Given the description of an element on the screen output the (x, y) to click on. 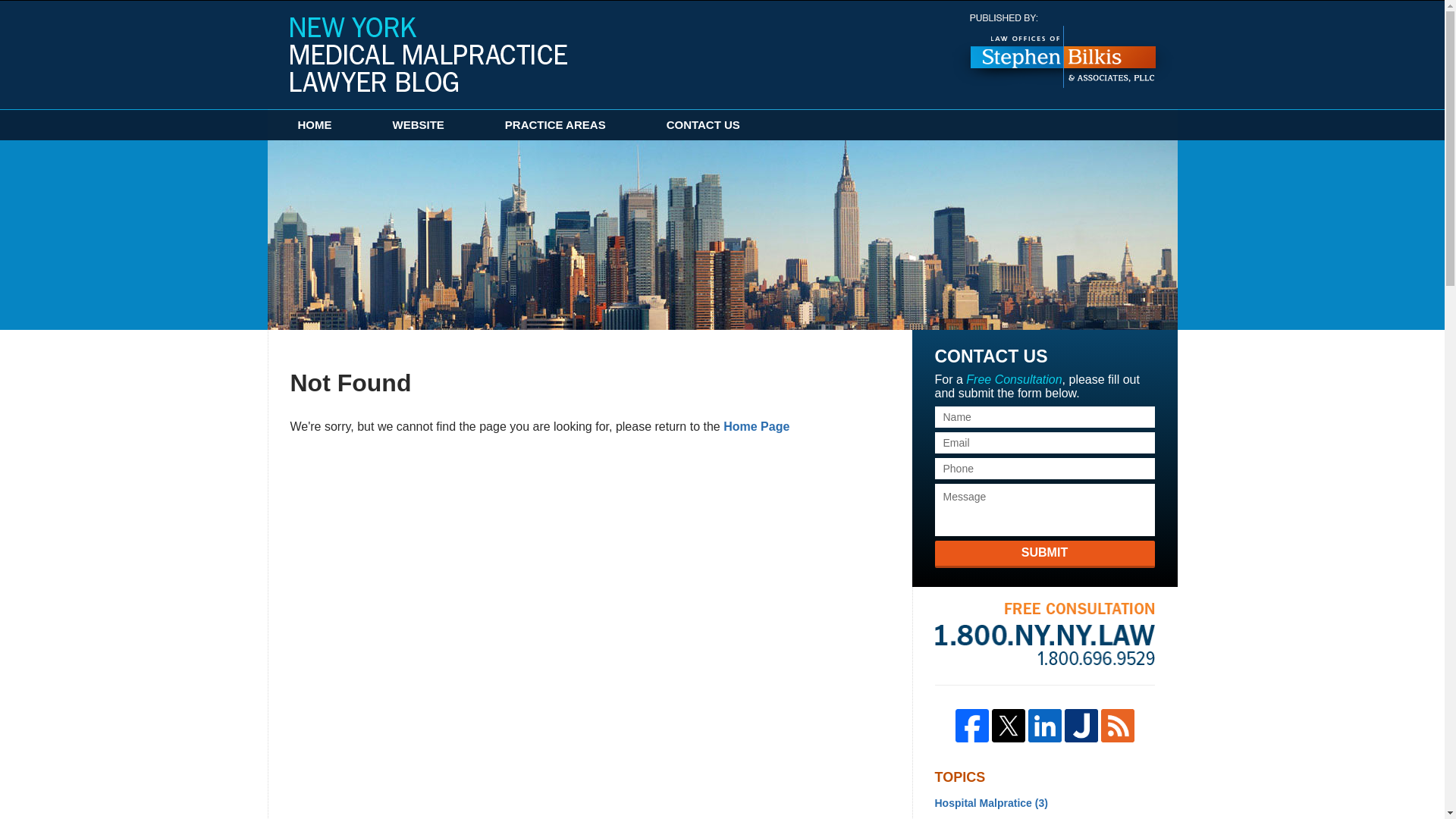
WEBSITE (418, 124)
Facebook (971, 725)
CONTACT US (703, 124)
Twitter (1008, 725)
Feed (1117, 725)
Please enter a valid phone number. (1044, 468)
New York Medical Malpractice Lawyer Blog (427, 54)
Home Page (756, 426)
Justia (1080, 725)
HOME (313, 124)
SUBMIT (1044, 554)
PRACTICE AREAS (555, 124)
LinkedIn (1044, 725)
